Given the description of an element on the screen output the (x, y) to click on. 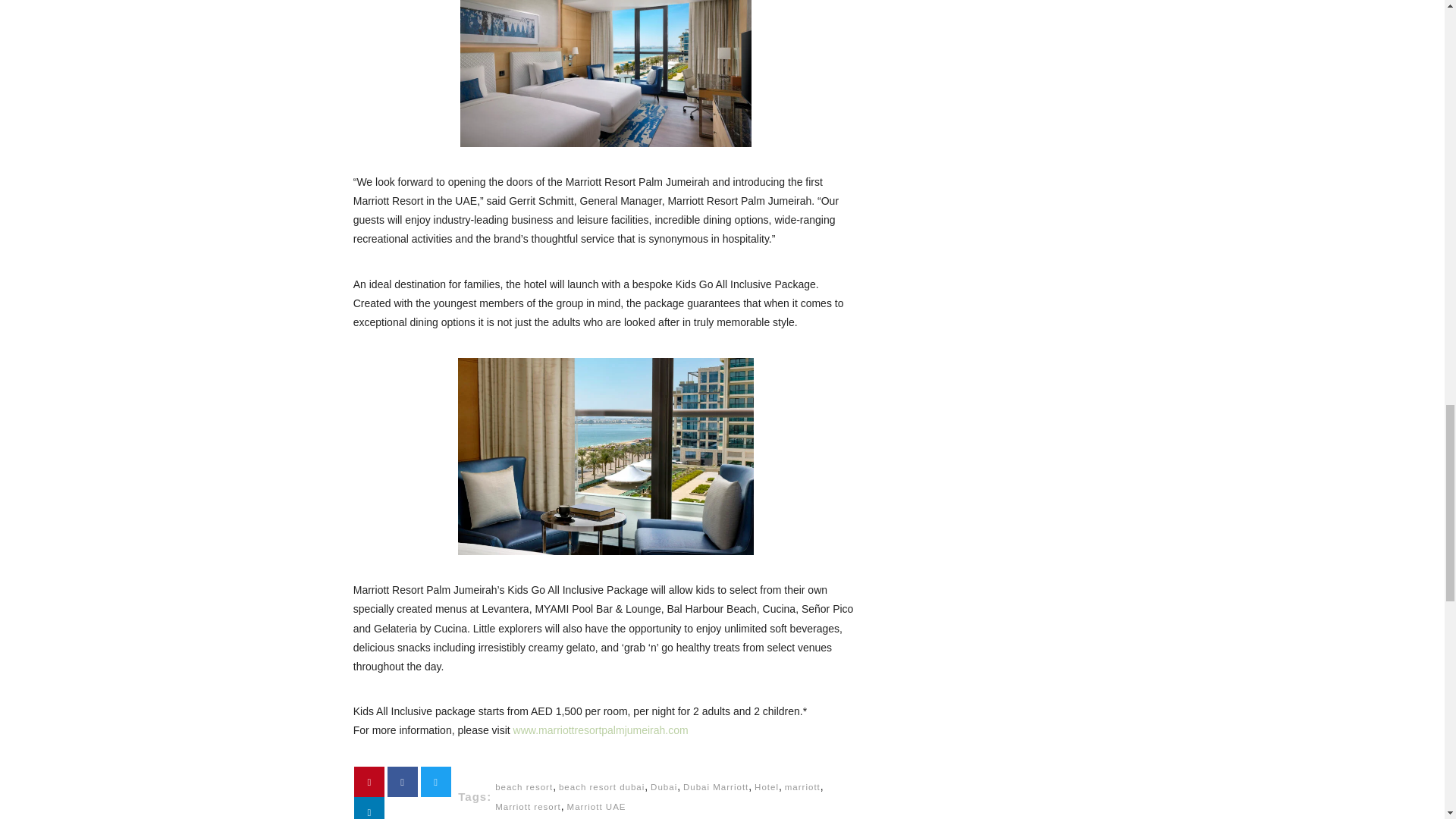
Dubai Marriott (715, 787)
beach resort dubai (602, 787)
www.marriottresortpalmjumeirah.com  (602, 729)
Dubai (663, 787)
beach resort (524, 787)
Marriott resort (527, 806)
Hotel (766, 787)
marriott (802, 787)
Marriott UAE (596, 806)
